Given the description of an element on the screen output the (x, y) to click on. 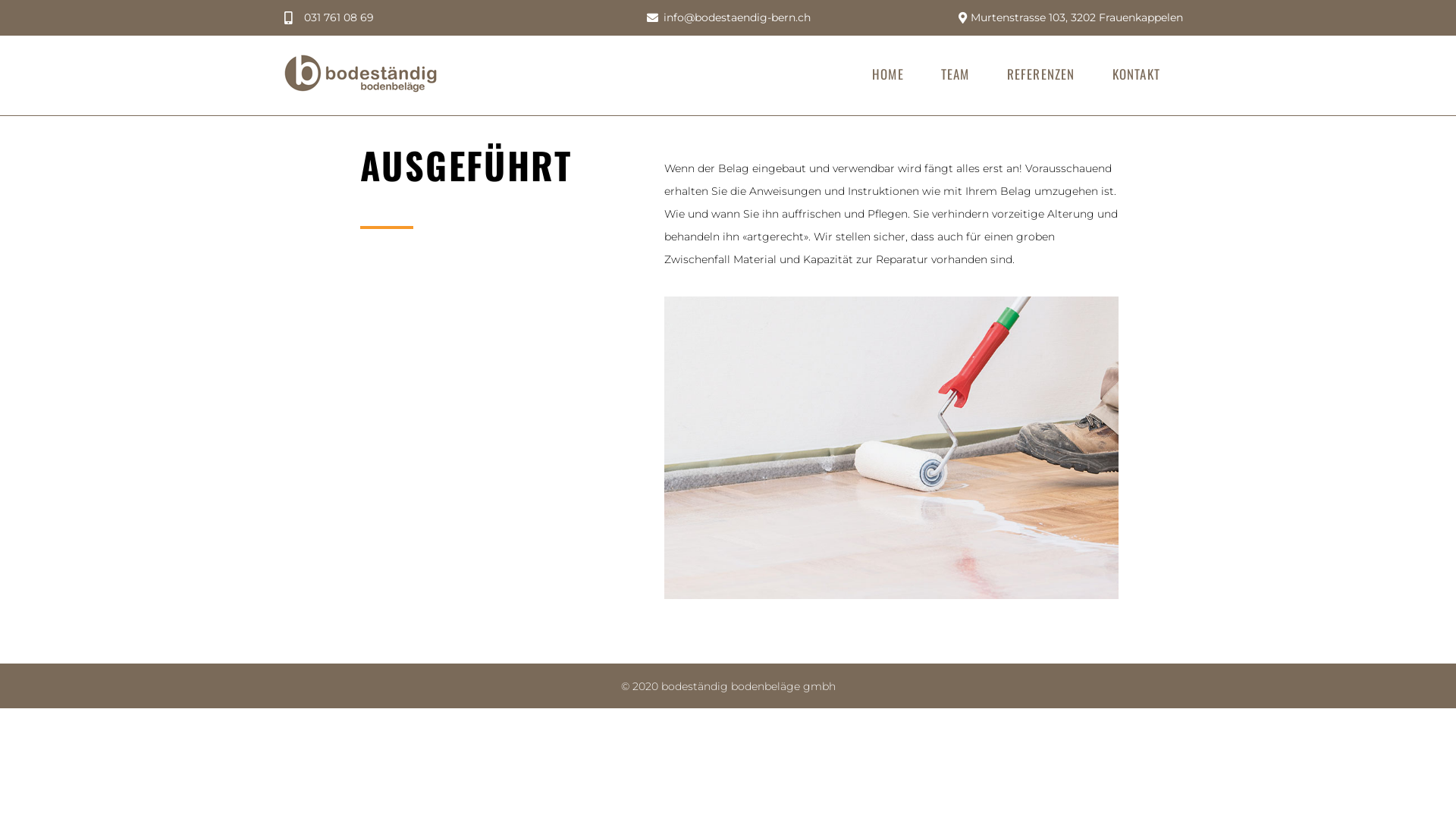
HOME Element type: text (887, 73)
031 761 08 69 Element type: text (328, 17)
TEAM Element type: text (955, 73)
REFERENZEN Element type: text (1041, 73)
info@bodestaendig-bern.ch Element type: text (727, 17)
Murtenstrasse 103, 3202 Frauenkappelen Element type: text (1067, 17)
KONTAKT Element type: text (1136, 73)
